Given the description of an element on the screen output the (x, y) to click on. 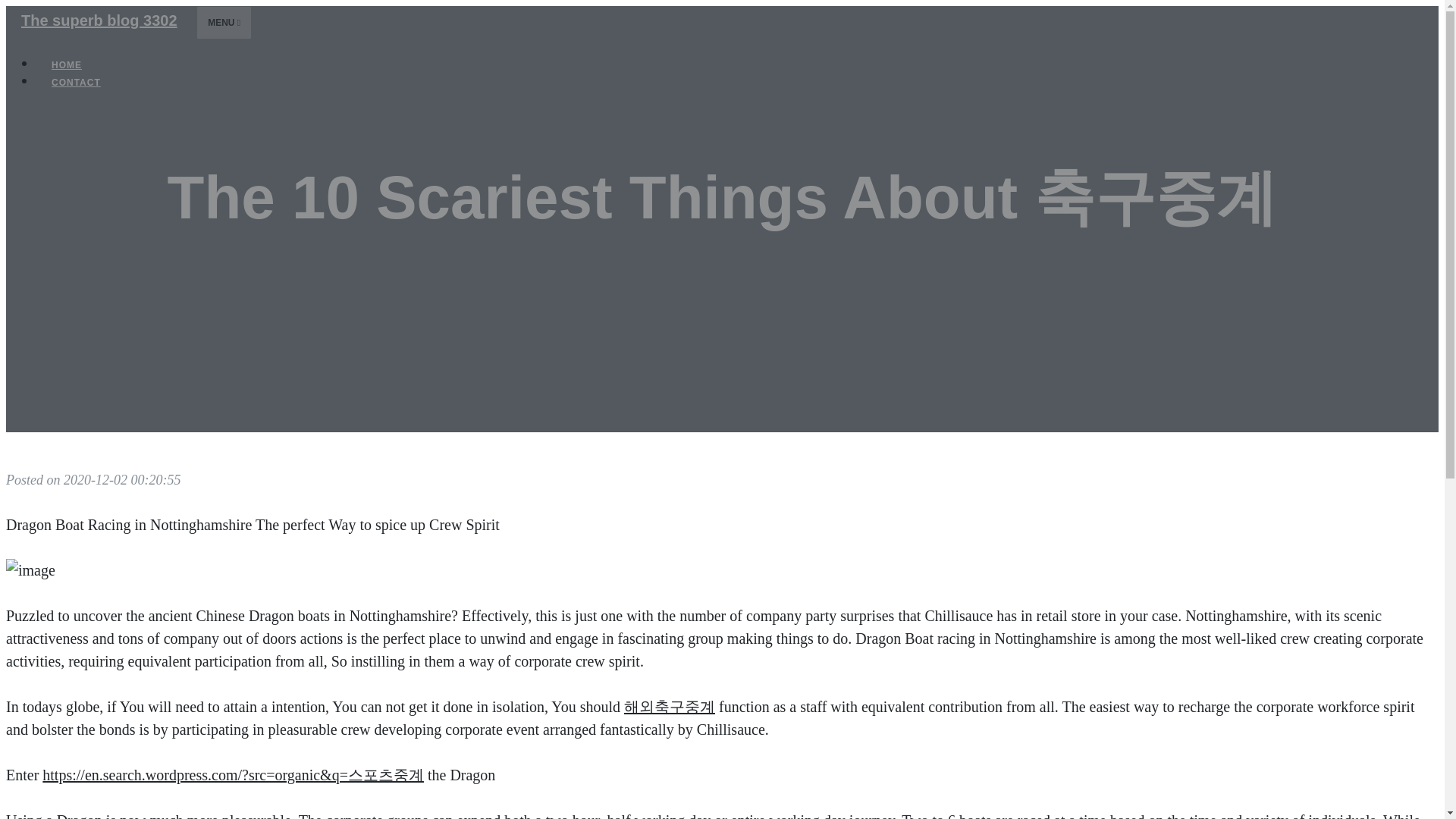
HOME (66, 64)
CONTACT (76, 82)
MENU (223, 22)
The superb blog 3302 (98, 20)
